Given the description of an element on the screen output the (x, y) to click on. 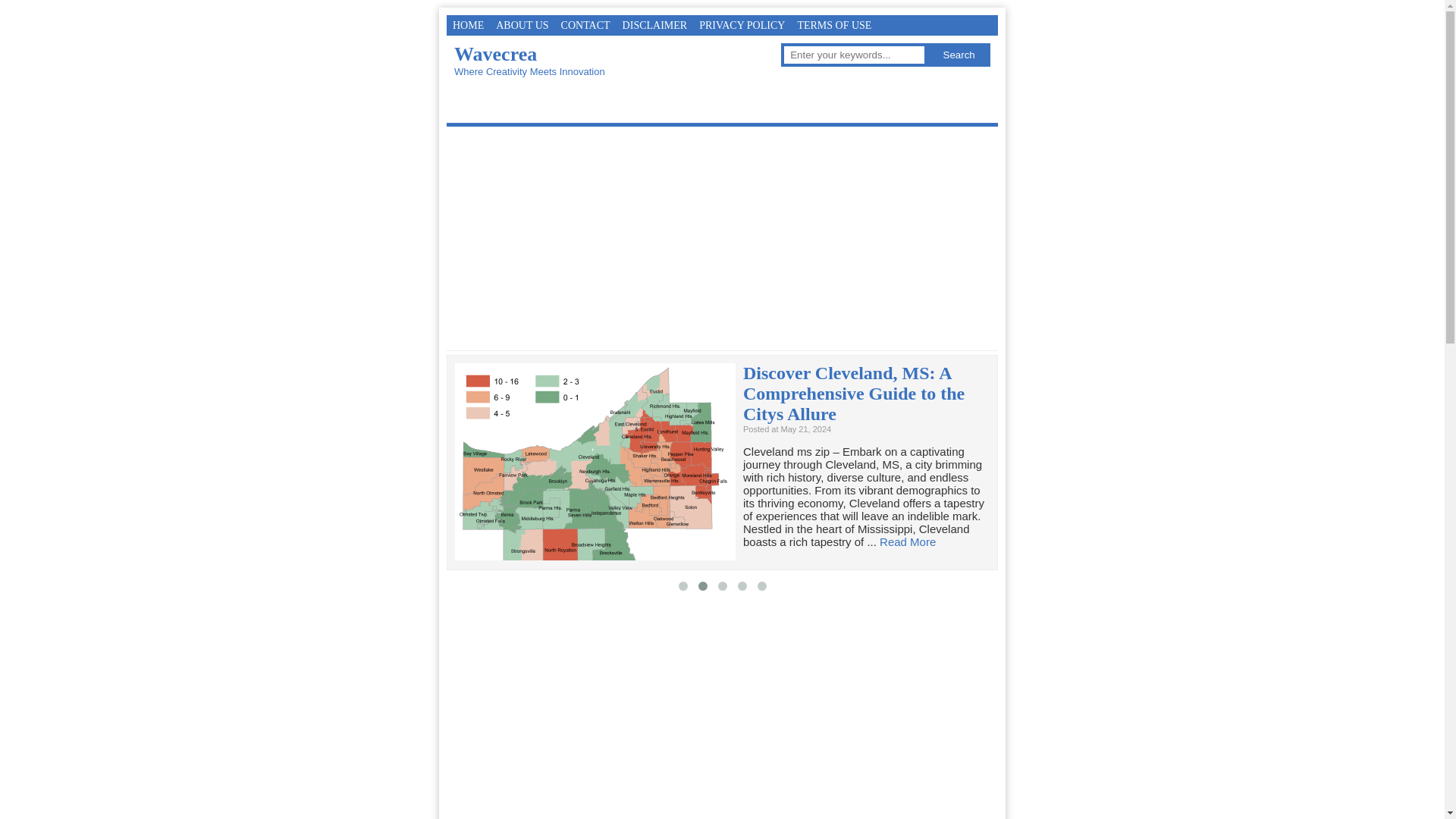
Wavecrea (495, 54)
HOME (467, 25)
ABOUT US (521, 25)
